Given the description of an element on the screen output the (x, y) to click on. 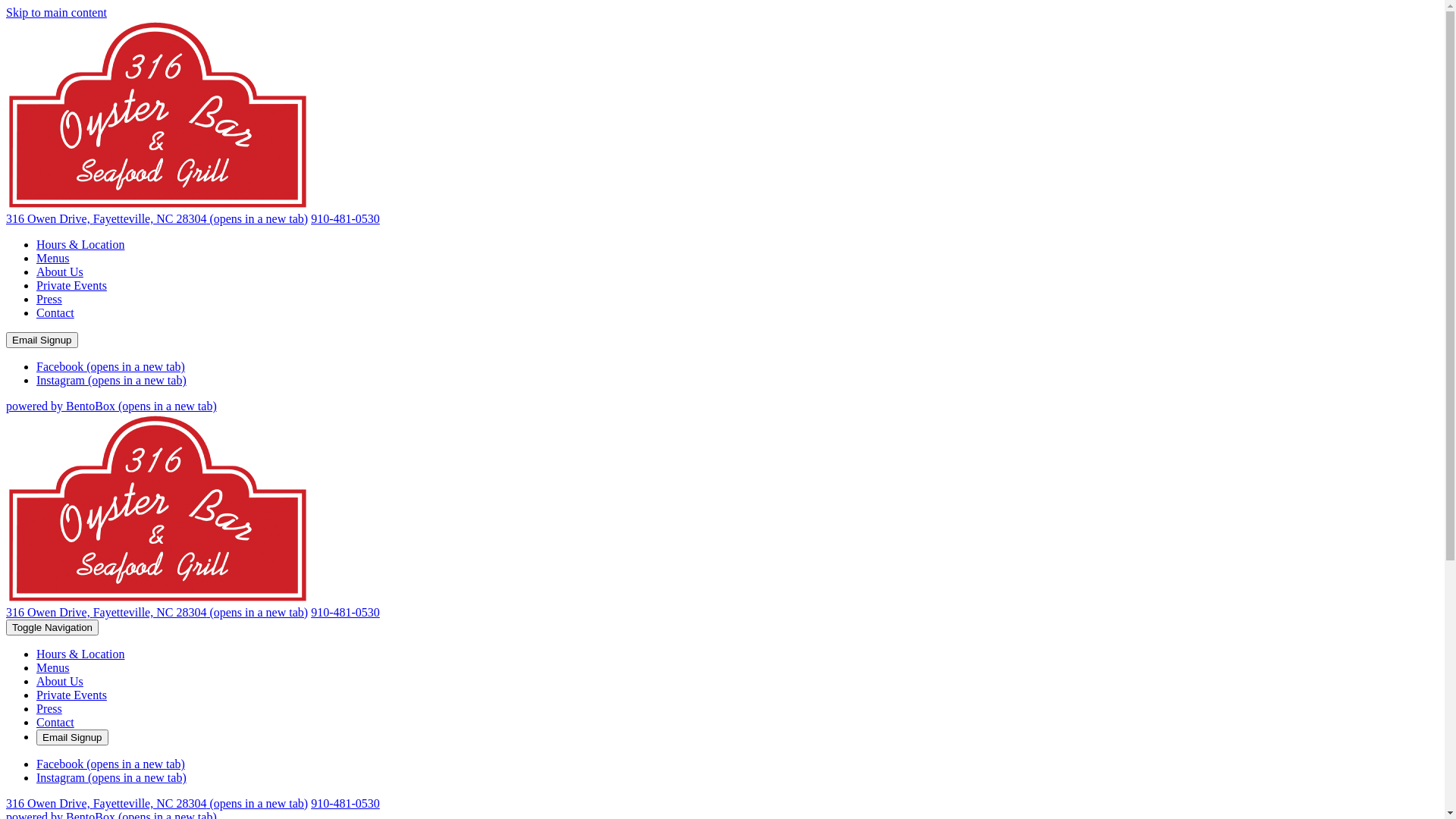
Hours & Location Element type: text (80, 244)
316 Owen Drive, Fayetteville, NC 28304 (opens in a new tab) Element type: text (156, 611)
Contact Element type: text (55, 312)
About Us Element type: text (59, 680)
Contact Element type: text (55, 721)
910-481-0530 Element type: text (344, 611)
Facebook (opens in a new tab) Element type: text (110, 763)
Email Signup Element type: text (72, 737)
Press Element type: text (49, 708)
Facebook (opens in a new tab) Element type: text (110, 366)
Menus Element type: text (52, 257)
powered by BentoBox (opens in a new tab) Element type: text (111, 405)
Toggle Navigation Element type: text (52, 627)
Instagram (opens in a new tab) Element type: text (111, 379)
316 Owen Drive, Fayetteville, NC 28304 (opens in a new tab) Element type: text (156, 803)
Menus Element type: text (52, 667)
910-481-0530 Element type: text (344, 218)
Instagram (opens in a new tab) Element type: text (111, 777)
910-481-0530 Element type: text (344, 803)
Private Events Element type: text (71, 694)
Press Element type: text (49, 298)
Skip to main content Element type: text (56, 12)
About Us Element type: text (59, 271)
Private Events Element type: text (71, 285)
Hours & Location Element type: text (80, 653)
Email Signup Element type: text (42, 340)
316 Owen Drive, Fayetteville, NC 28304 (opens in a new tab) Element type: text (156, 218)
